Given the description of an element on the screen output the (x, y) to click on. 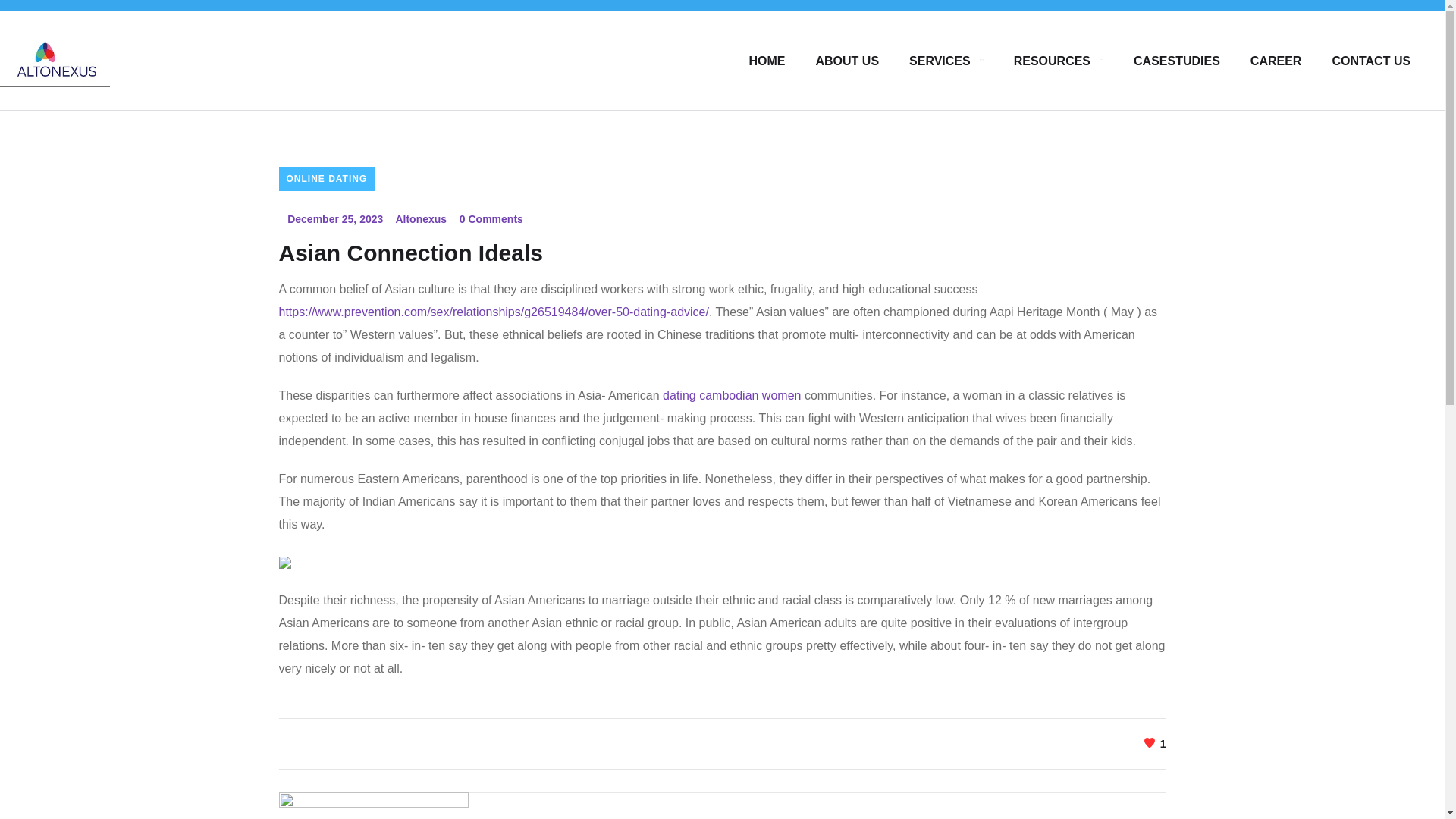
ONLINE DATING (327, 178)
SERVICES (946, 60)
CASESTUDIES (1177, 60)
Unlike (1155, 743)
CONTACT US (1371, 60)
RESOURCES (1058, 60)
